Given the description of an element on the screen output the (x, y) to click on. 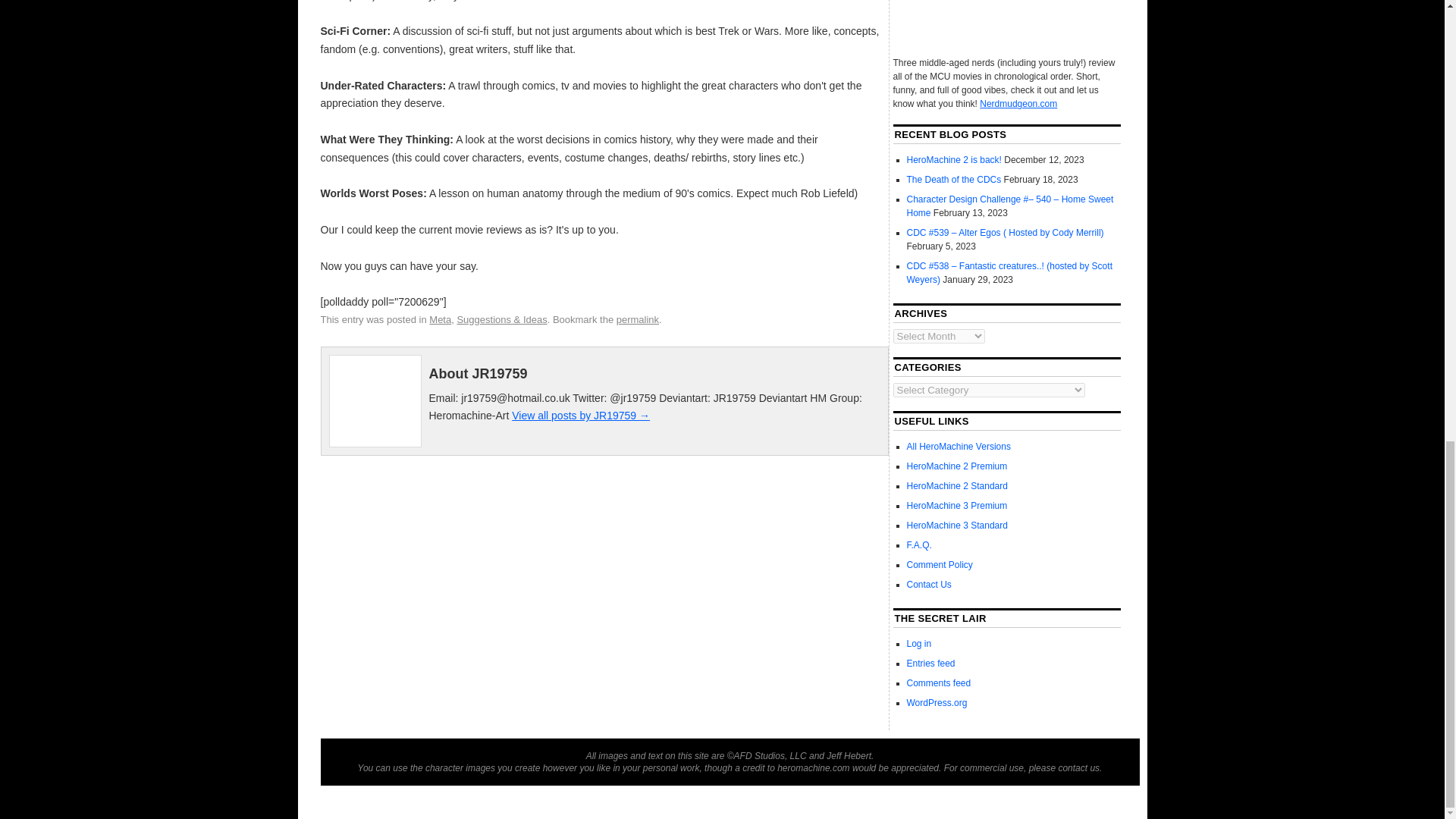
Meta (440, 319)
HeroMachine 2 is back! (954, 159)
permalink (637, 319)
HeroMachine 3 Standard (957, 525)
HeroMachine 2 Premium (957, 466)
Nerdmudgeon.com (1018, 103)
Comment Policy (939, 564)
All HeroMachine Versions (958, 446)
The Death of the CDCs (954, 179)
HeroMachine 2 Standard (957, 485)
F.A.Q. (919, 544)
HeroMachine 3 Premium (957, 505)
Permalink to New Blog Topic Ideas (637, 319)
